Given the description of an element on the screen output the (x, y) to click on. 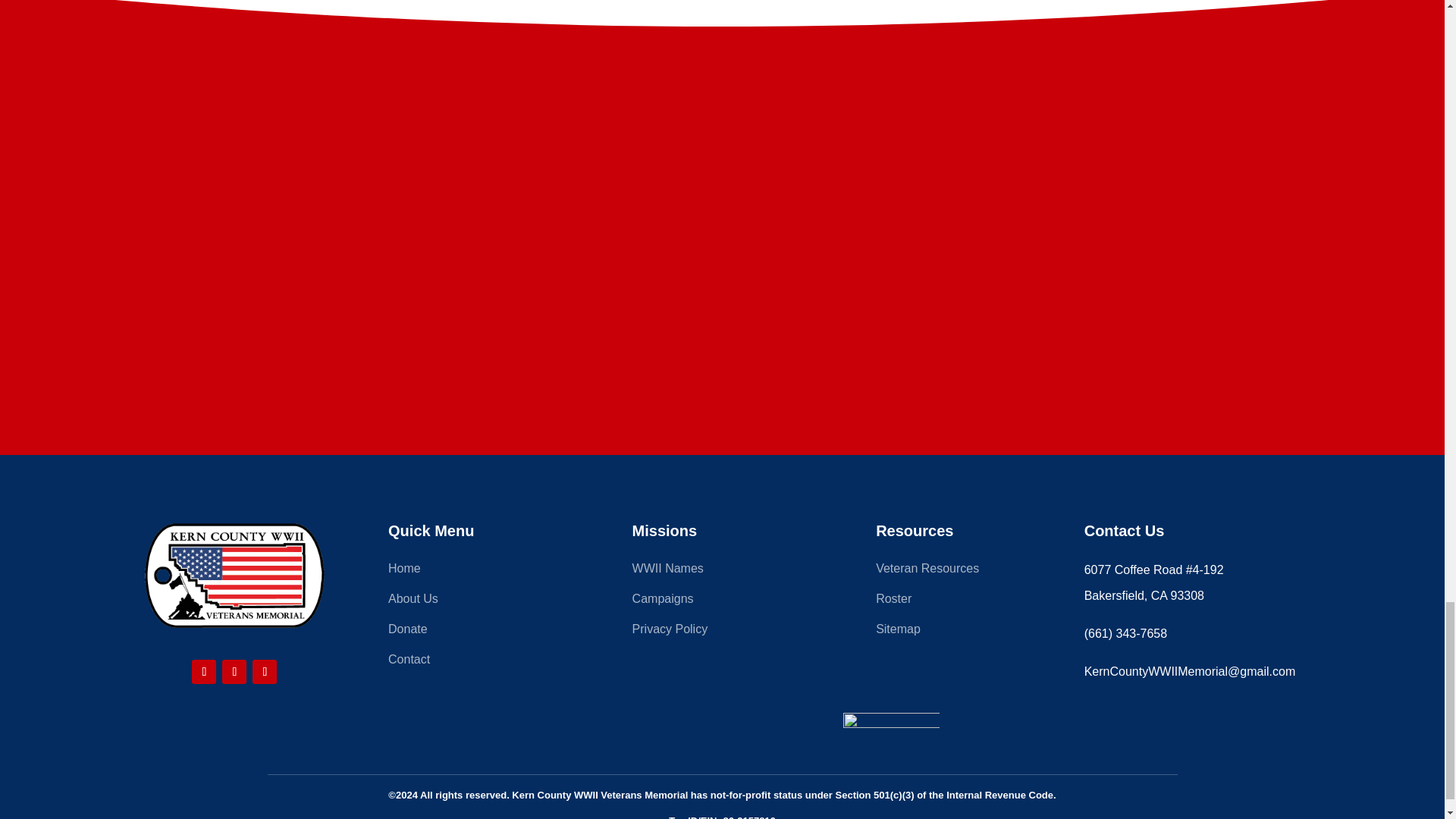
Contact (478, 662)
Home (478, 571)
Donate (478, 632)
Submit (733, 287)
WWII Names (721, 571)
Follow on Facebook (203, 671)
Privacy Policy (721, 632)
Campaigns (721, 601)
Veteran Resources (966, 571)
Follow on Yelp (263, 671)
Follow on Instagram (234, 671)
Roster (966, 601)
About Us (478, 601)
Sitemap (966, 632)
